Given the description of an element on the screen output the (x, y) to click on. 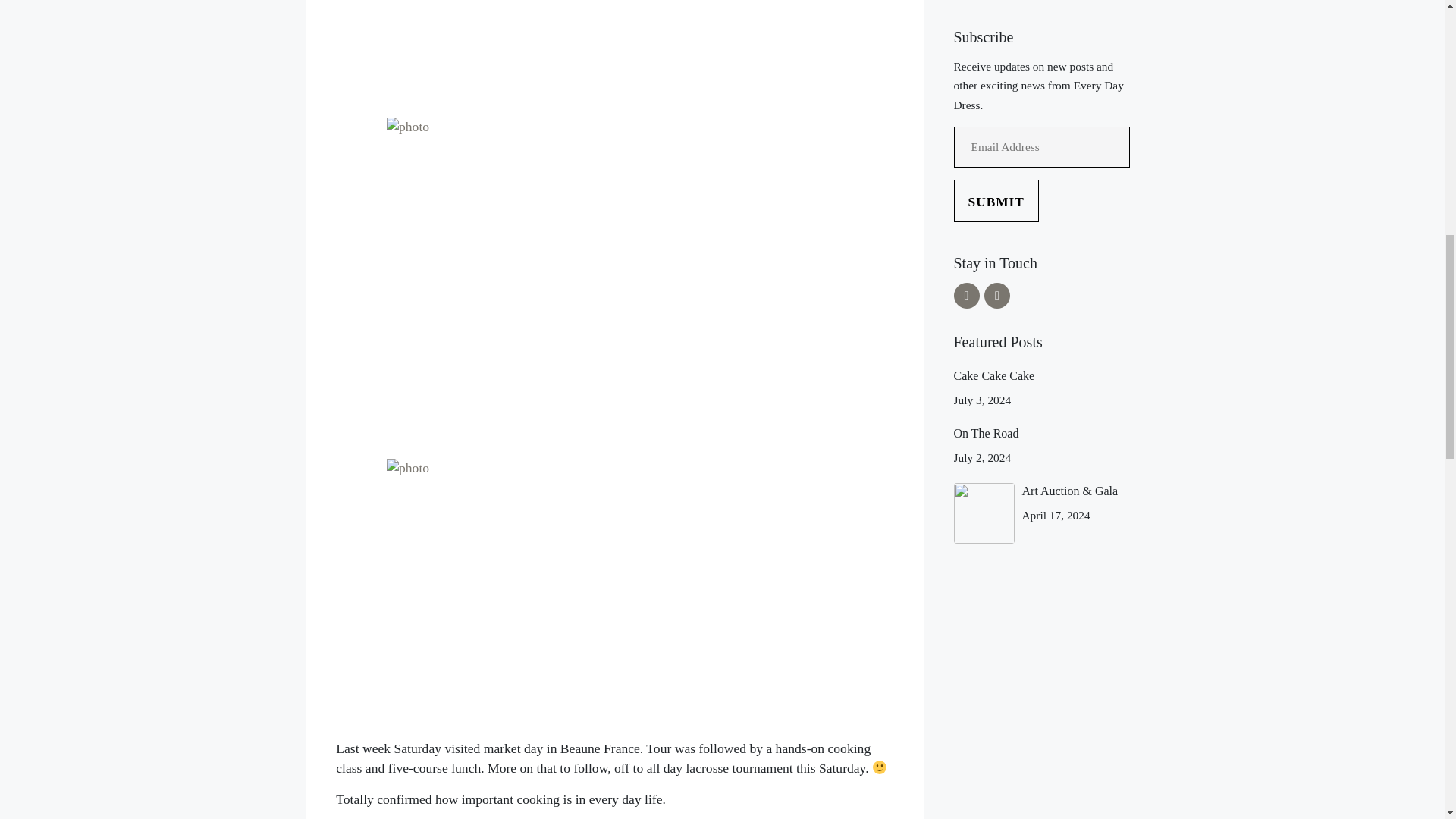
On the Road (986, 432)
cake cake cake (994, 375)
